Given the description of an element on the screen output the (x, y) to click on. 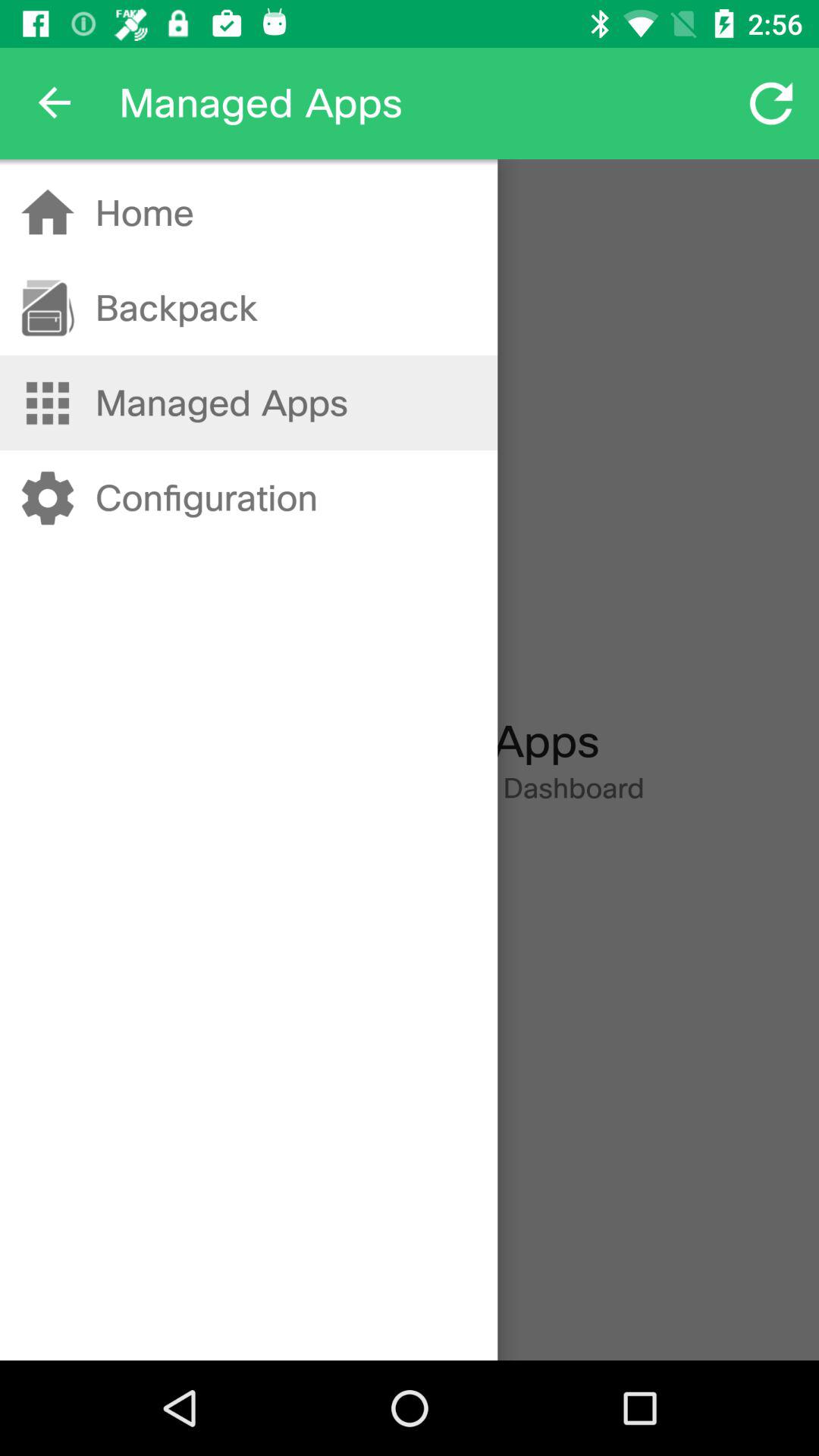
jump to backpack icon (176, 307)
